Given the description of an element on the screen output the (x, y) to click on. 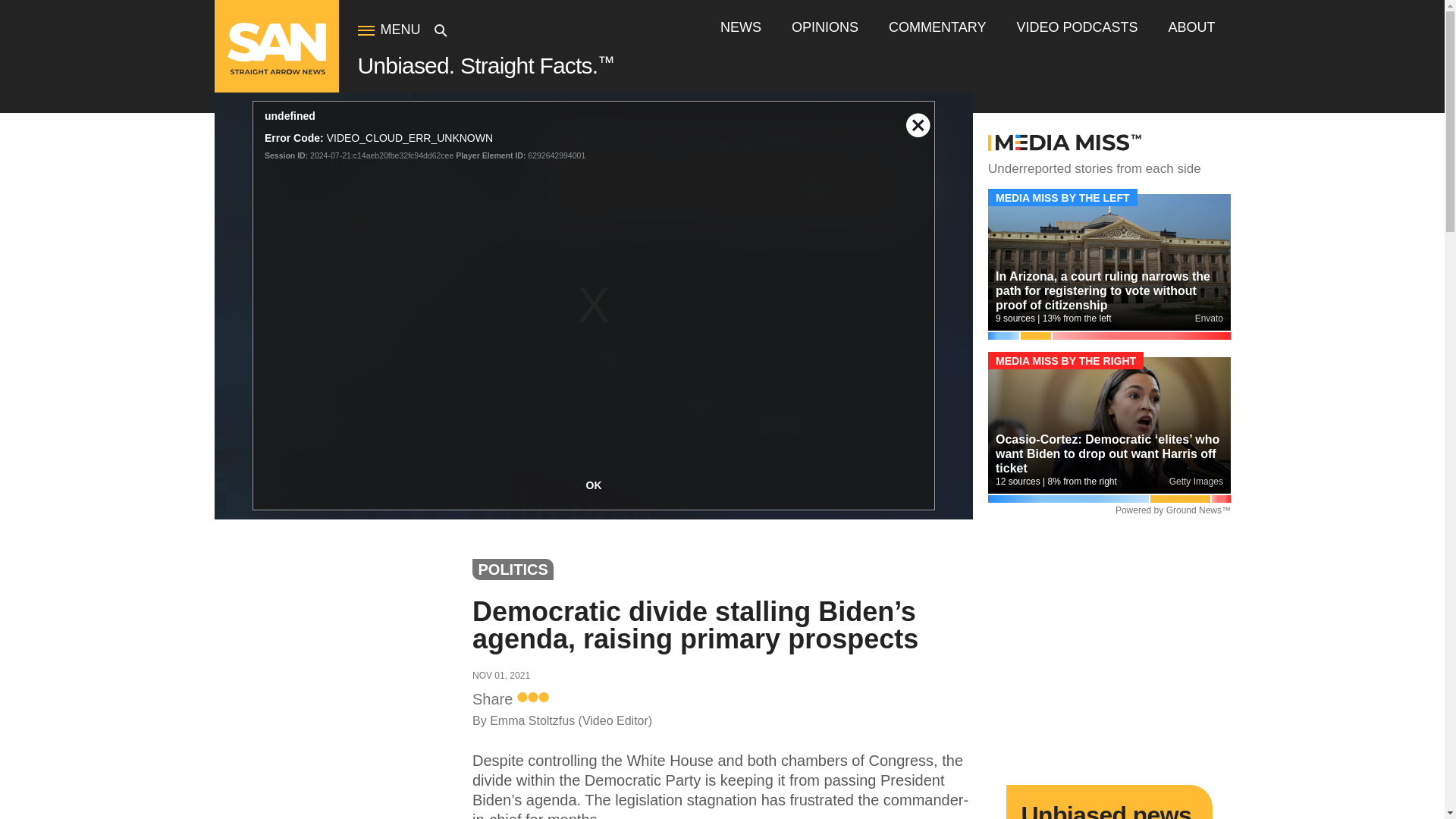
NEWS (740, 27)
OPINIONS (825, 27)
COMMENTARY (936, 27)
VIDEO PODCASTS (1076, 27)
Close Modal Dialog (918, 117)
ABOUT (1190, 27)
3rd party ad content (1108, 650)
Home (276, 70)
